Given the description of an element on the screen output the (x, y) to click on. 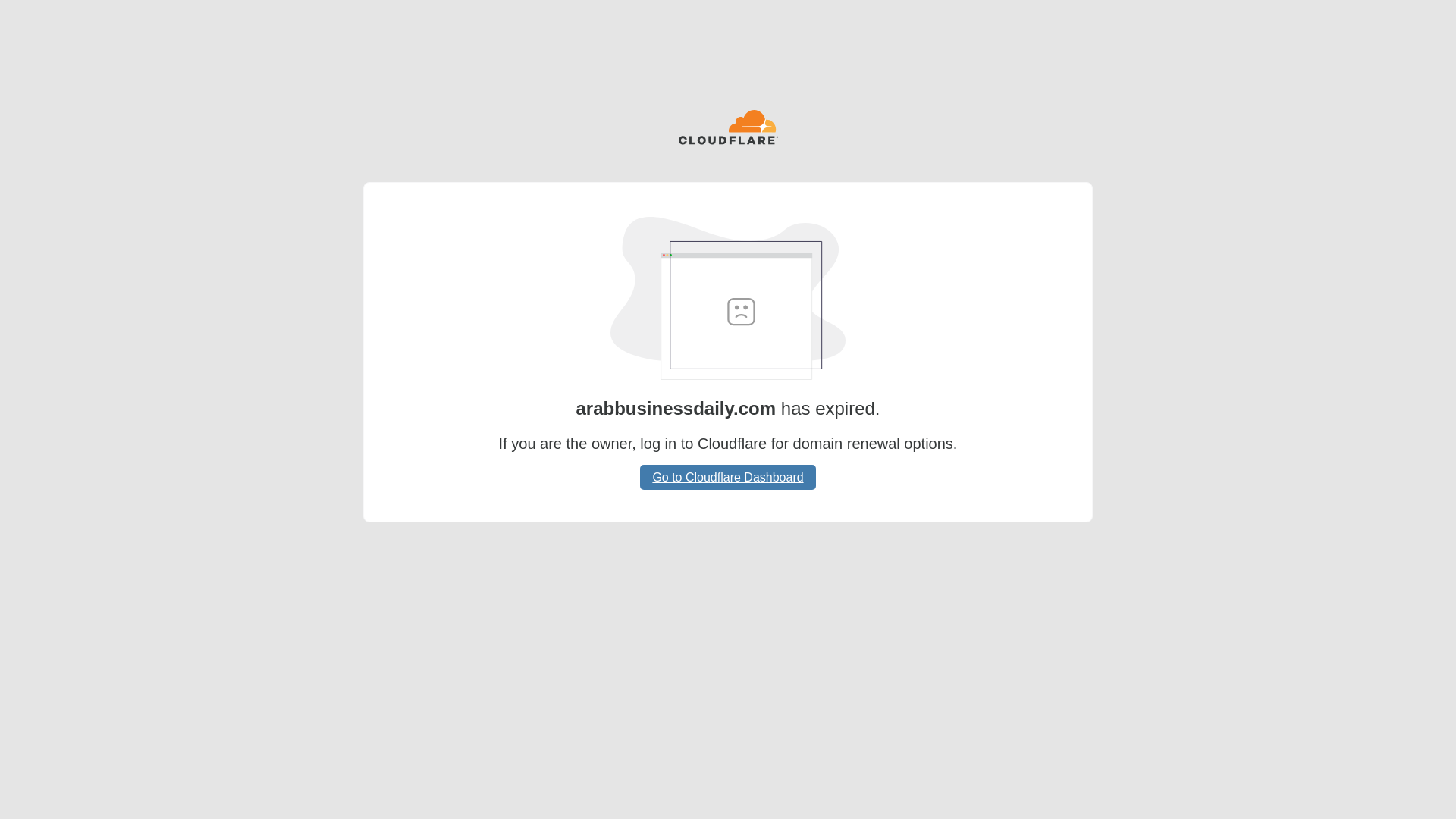
Go to Cloudflare Dashboard (727, 477)
